Given the description of an element on the screen output the (x, y) to click on. 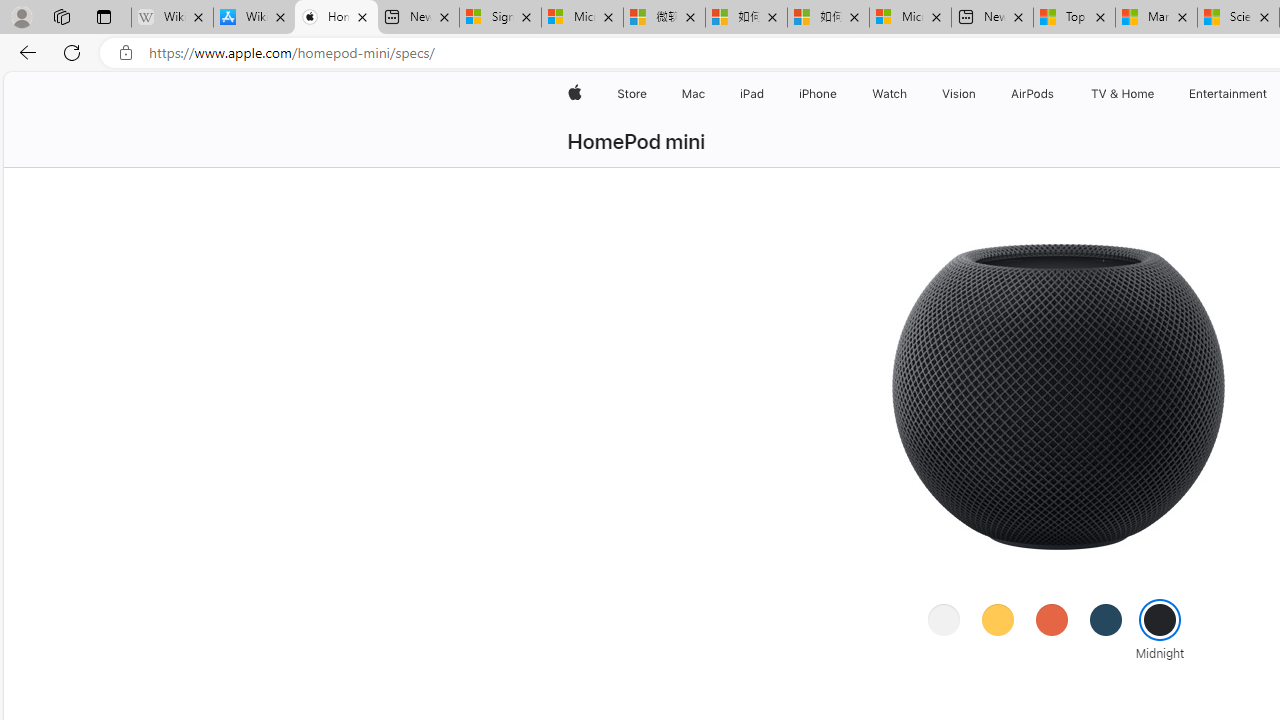
iPad (750, 93)
Mac menu (708, 93)
Watch menu (910, 93)
iPhone (818, 93)
Apple (574, 93)
TV and Home menu (1157, 93)
AirPods (1032, 93)
Blue (1105, 619)
